Given the description of an element on the screen output the (x, y) to click on. 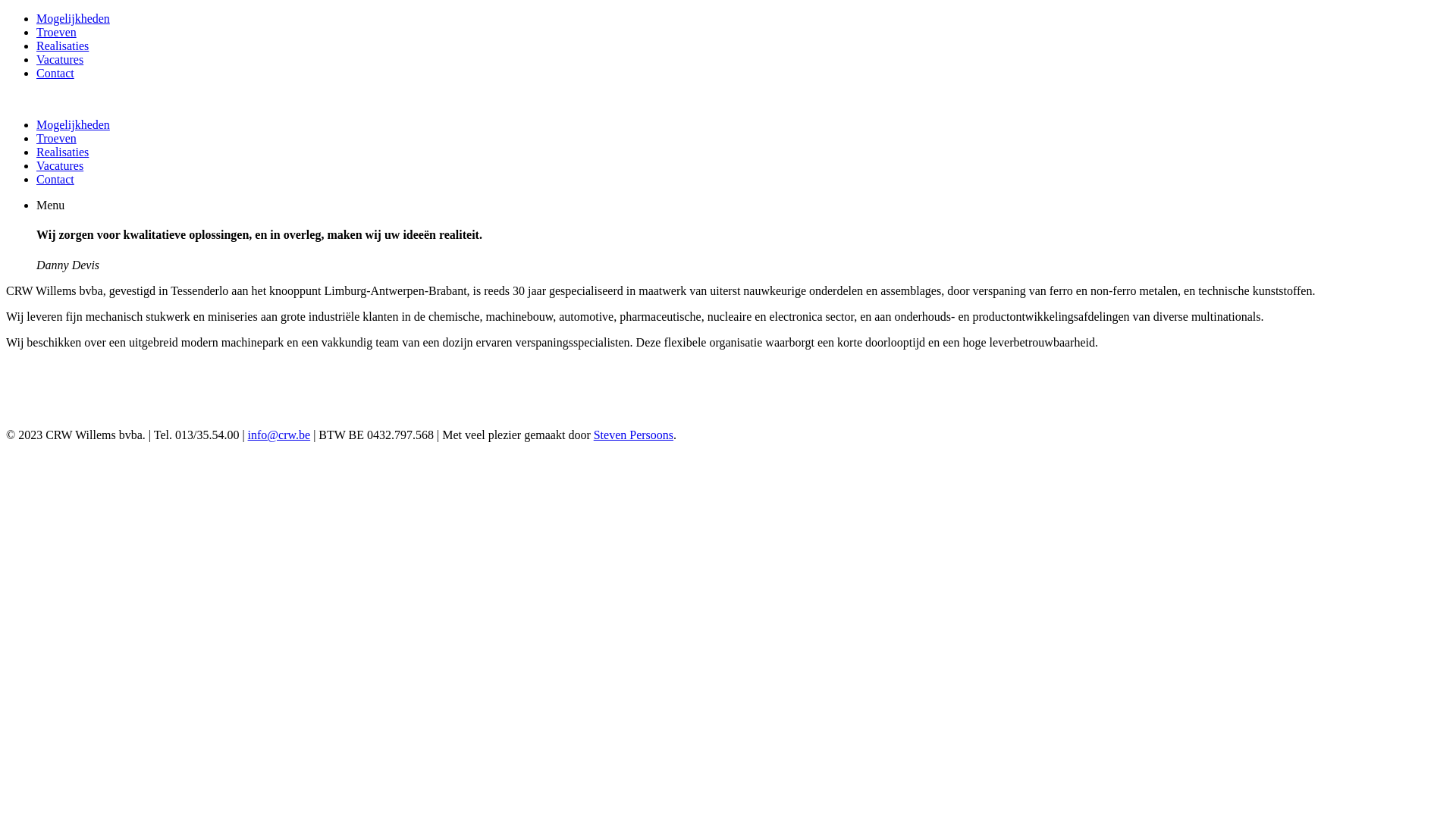
Mogelijkheden Element type: text (72, 124)
Troeven Element type: text (56, 31)
Troeven Element type: text (56, 137)
Realisaties Element type: text (62, 45)
Mogelijkheden Element type: text (72, 18)
Vacatures Element type: text (59, 165)
info@crw.be Element type: text (278, 434)
Realisaties Element type: text (62, 151)
Contact Element type: text (55, 72)
Menu Element type: text (50, 204)
Contact Element type: text (55, 178)
Vacatures Element type: text (59, 59)
Steven Persoons Element type: text (633, 434)
